Given the description of an element on the screen output the (x, y) to click on. 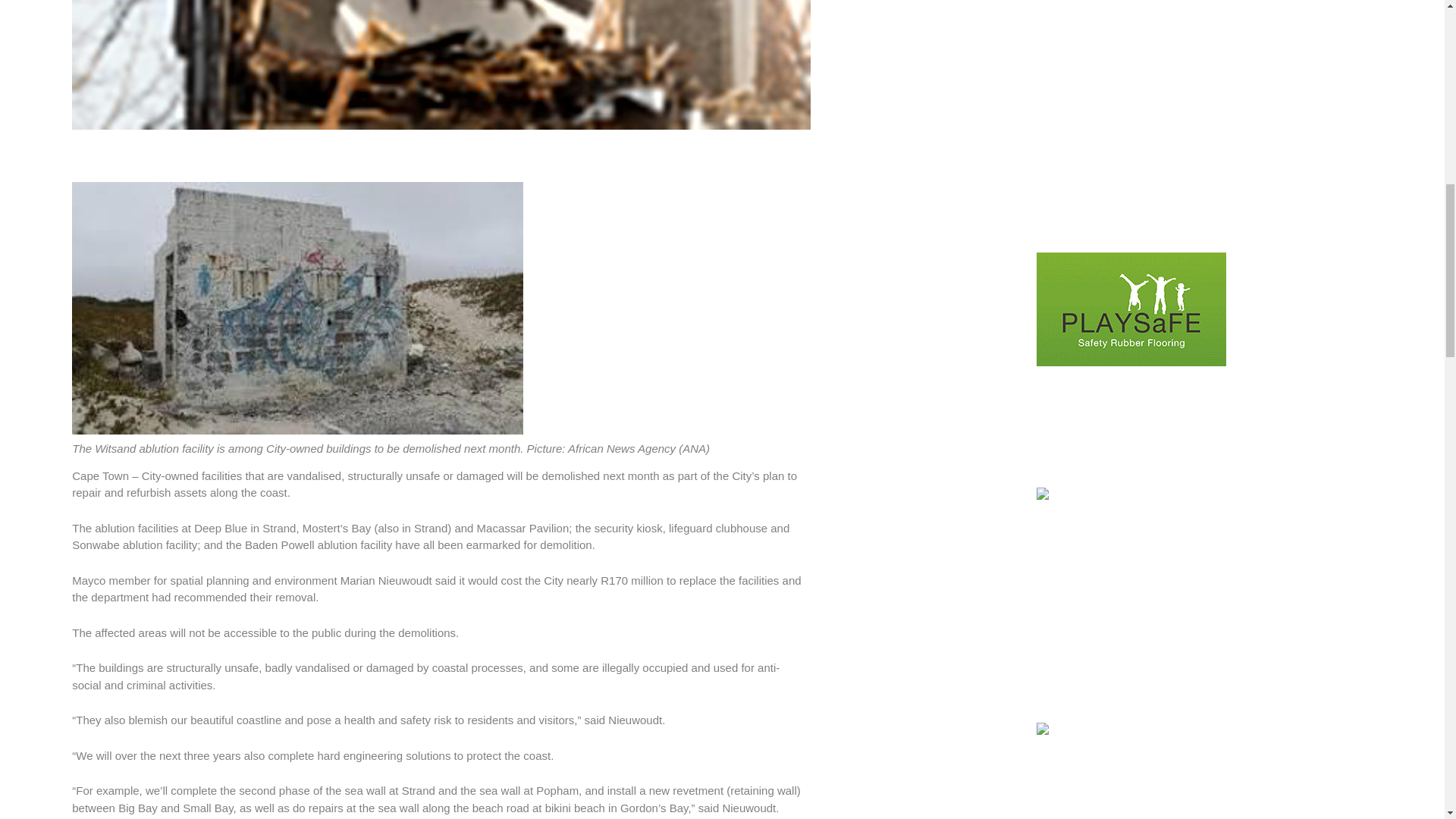
Cape Town (440, 64)
LATEST ISSUE  (1131, 65)
